Given the description of an element on the screen output the (x, y) to click on. 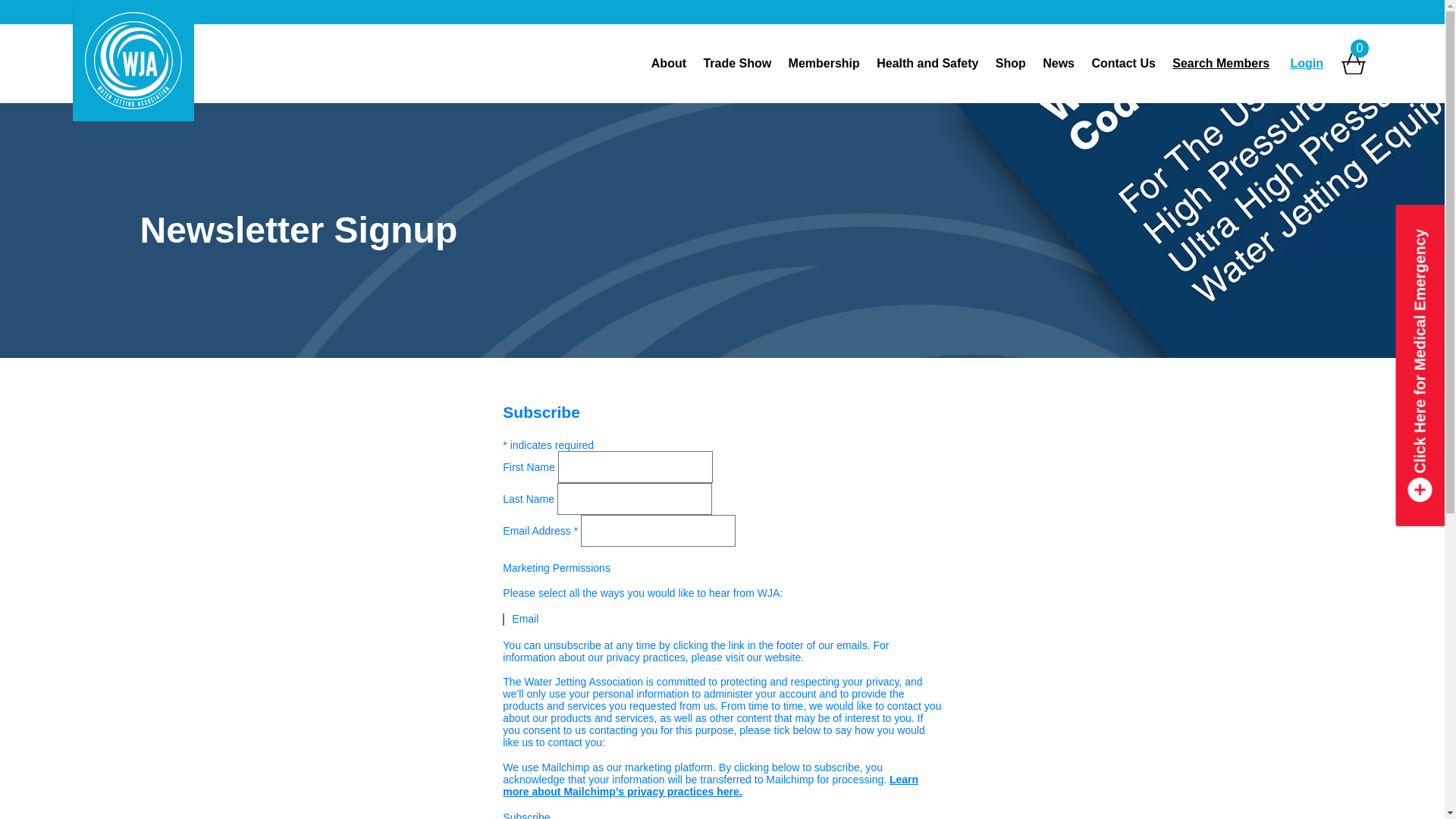
Contact Us (1123, 63)
Membership (822, 63)
View Basket (1353, 63)
Trade Show (736, 63)
Subscribe (526, 815)
About (669, 63)
Search Members (1220, 63)
Health and Safety (927, 63)
Login (1306, 63)
Subscribe (526, 815)
